Given the description of an element on the screen output the (x, y) to click on. 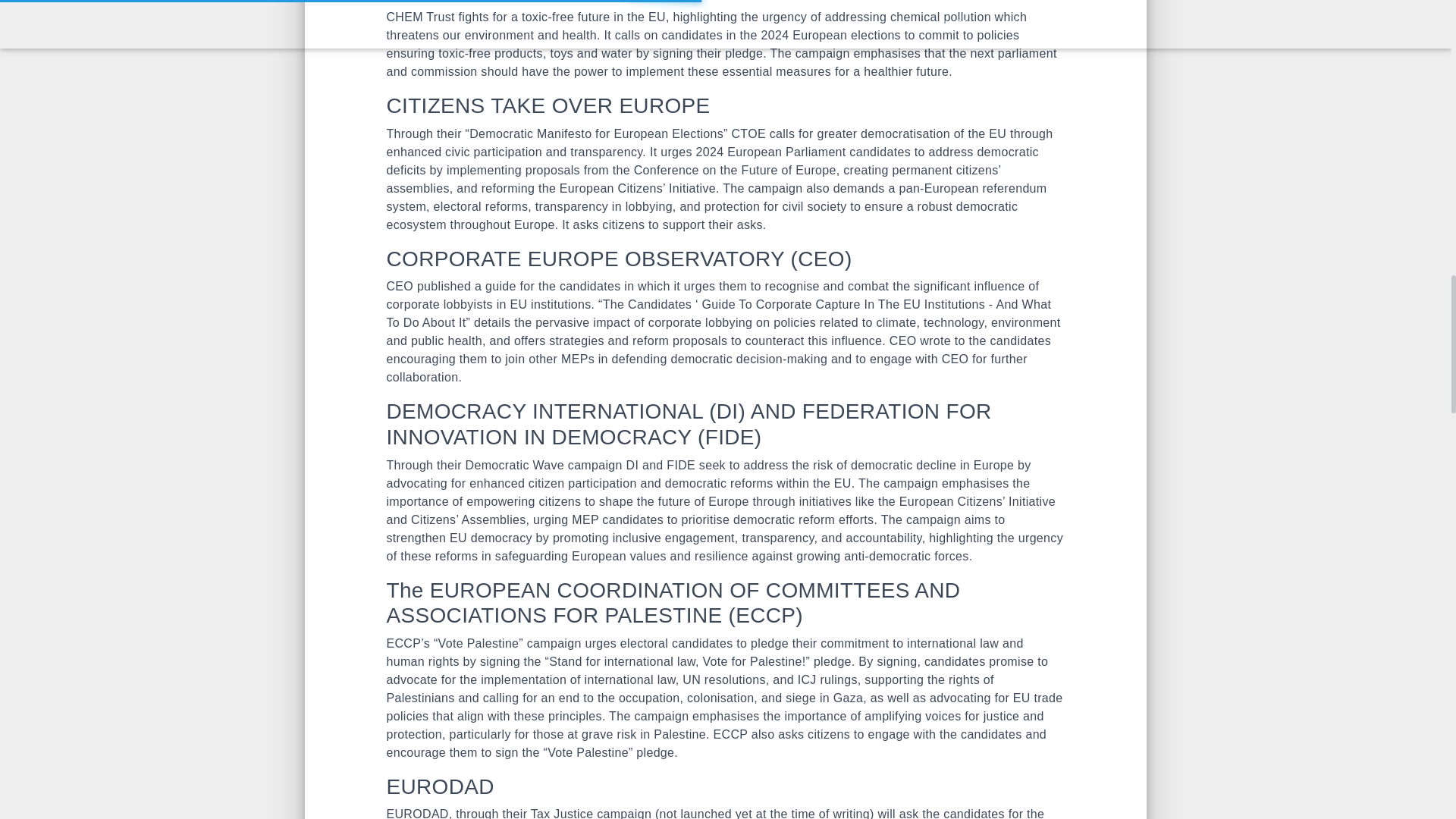
Democratic Wave (514, 464)
asks (749, 224)
citizens (829, 734)
wrote (935, 340)
pledge (743, 52)
pledge (832, 661)
